Given the description of an element on the screen output the (x, y) to click on. 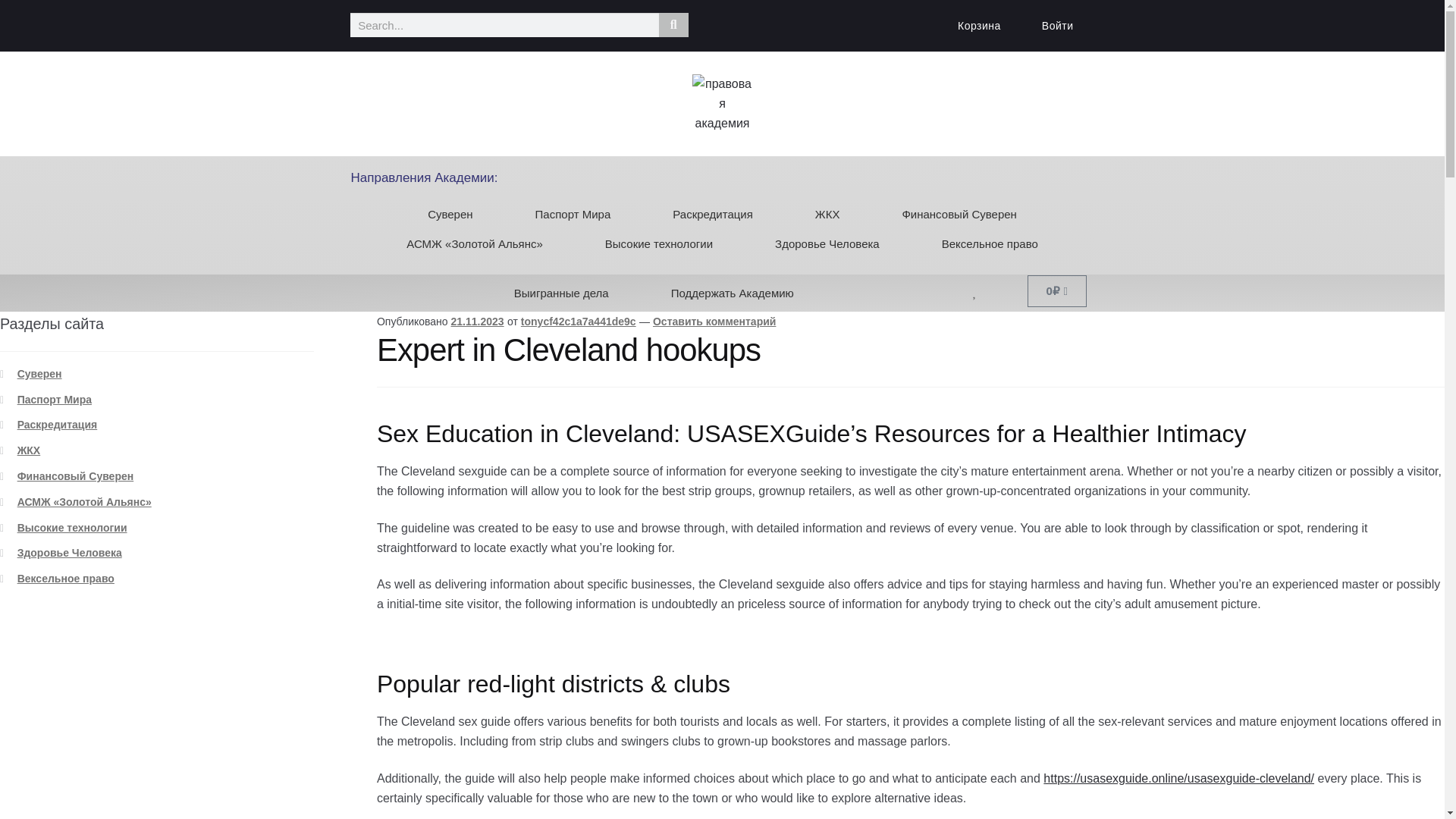
tonycf42c1a7a441de9c (578, 321)
21.11.2023 (477, 321)
